Given the description of an element on the screen output the (x, y) to click on. 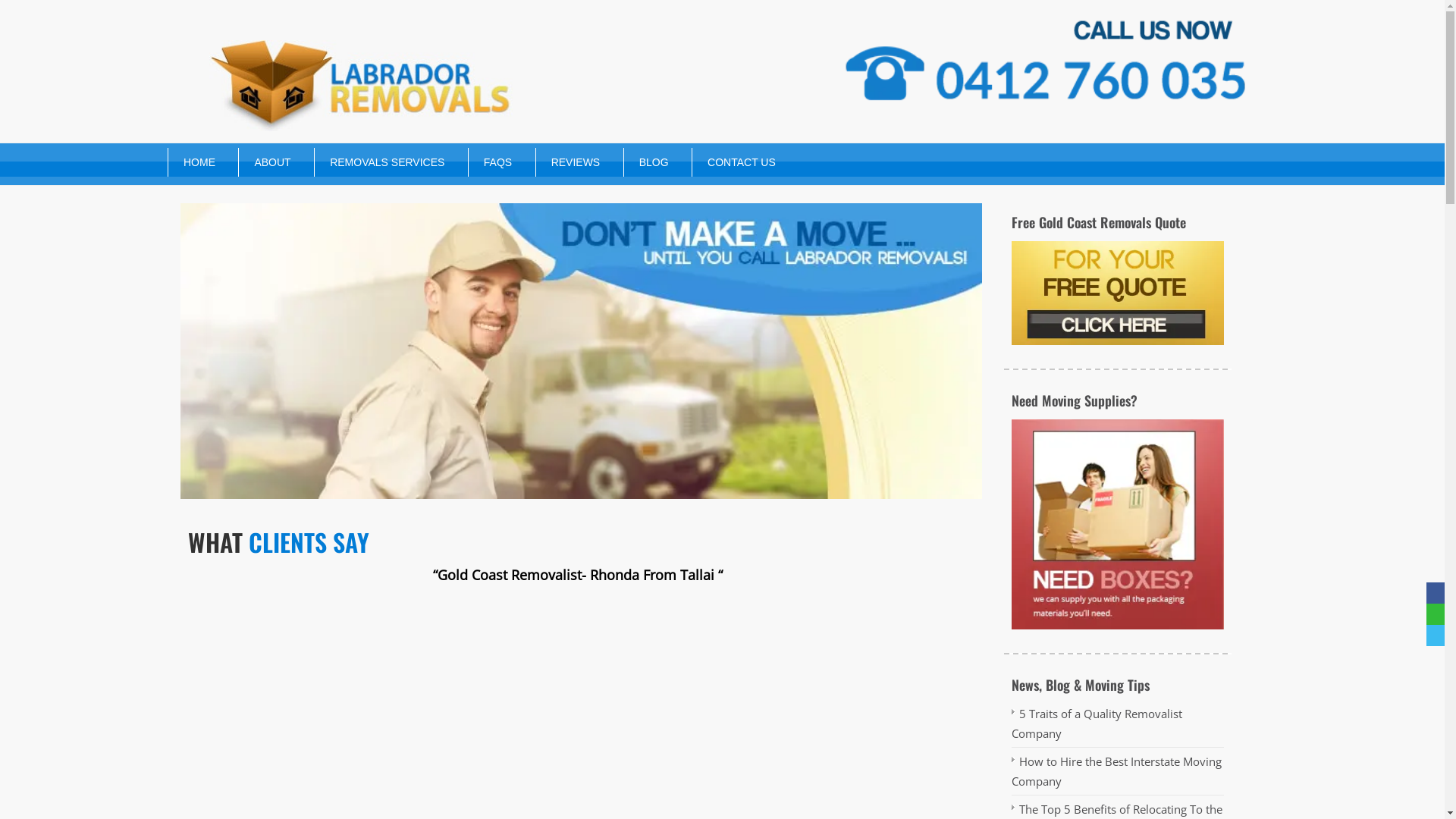
Gold Coast removals supplies - Labrador Removals Element type: hover (1117, 523)
ABOUT Element type: text (264, 161)
BLOG Element type: text (646, 161)
FAQS Element type: text (489, 161)
REVIEWS Element type: text (568, 161)
How to Hire the Best Interstate Moving Company Element type: text (1116, 770)
CONTACT US Element type: text (733, 161)
5 Traits of a Quality Removalist Company Element type: text (1096, 722)
Gold Coast Movers - Labrador Removals - since 1989! Element type: hover (581, 351)
HOME Element type: text (191, 161)
